Given the description of an element on the screen output the (x, y) to click on. 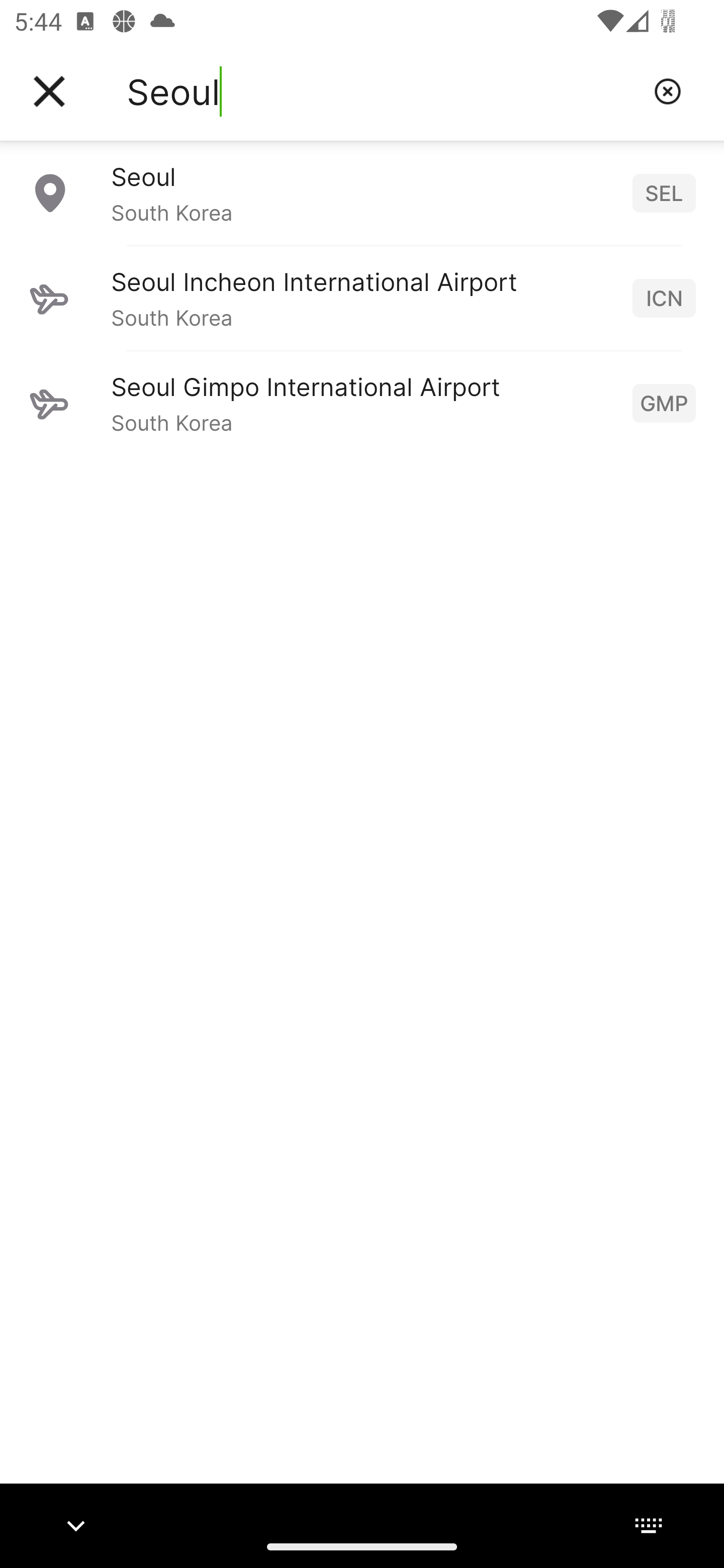
Seoul (382, 91)
Seoul South Korea SEL (362, 192)
Seoul Gimpo International Airport South Korea GMP (362, 402)
